Given the description of an element on the screen output the (x, y) to click on. 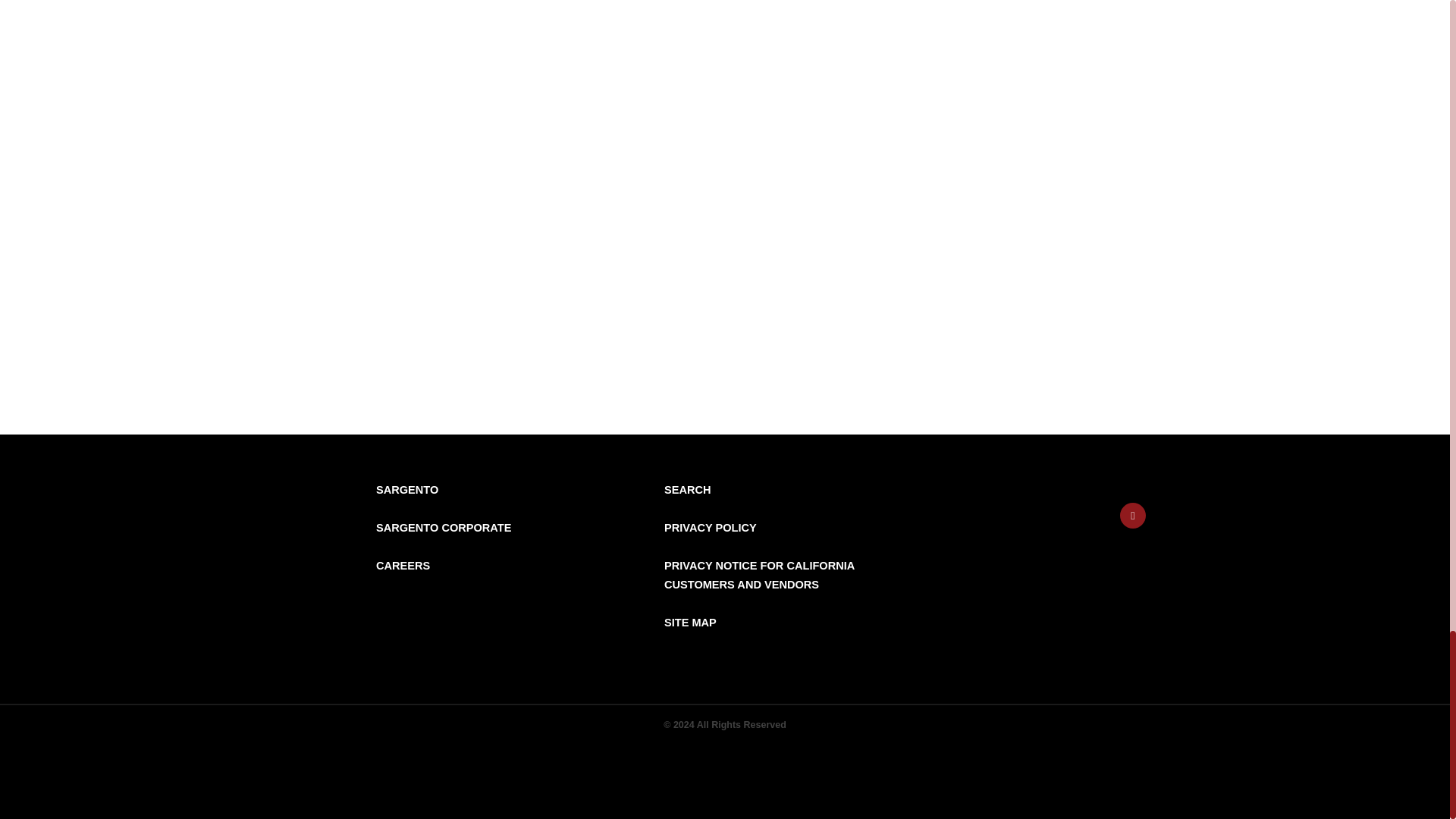
PRIVACY NOTICE FOR CALIFORNIA CUSTOMERS AND VENDORS (758, 574)
Go to the Search page (687, 490)
Go to the Careers page (402, 565)
SEARCH (687, 490)
Go to the Privacy Policy page (710, 527)
SARGENTO (406, 490)
Go to the Sargento page (406, 490)
SARGENTO CORPORATE (443, 527)
PRIVACY POLICY (710, 527)
